Given the description of an element on the screen output the (x, y) to click on. 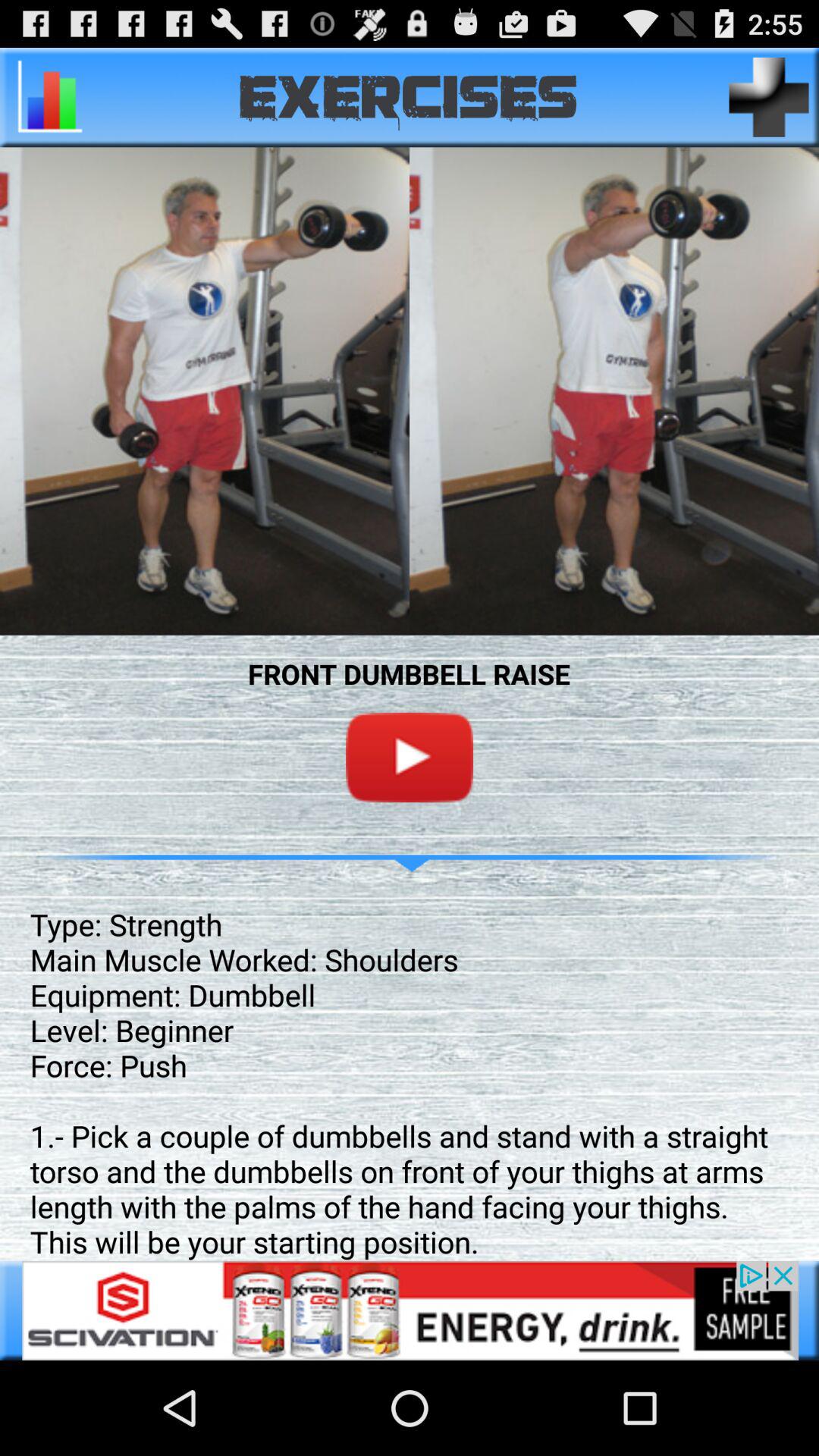
watch advertisement (409, 1310)
